Given the description of an element on the screen output the (x, y) to click on. 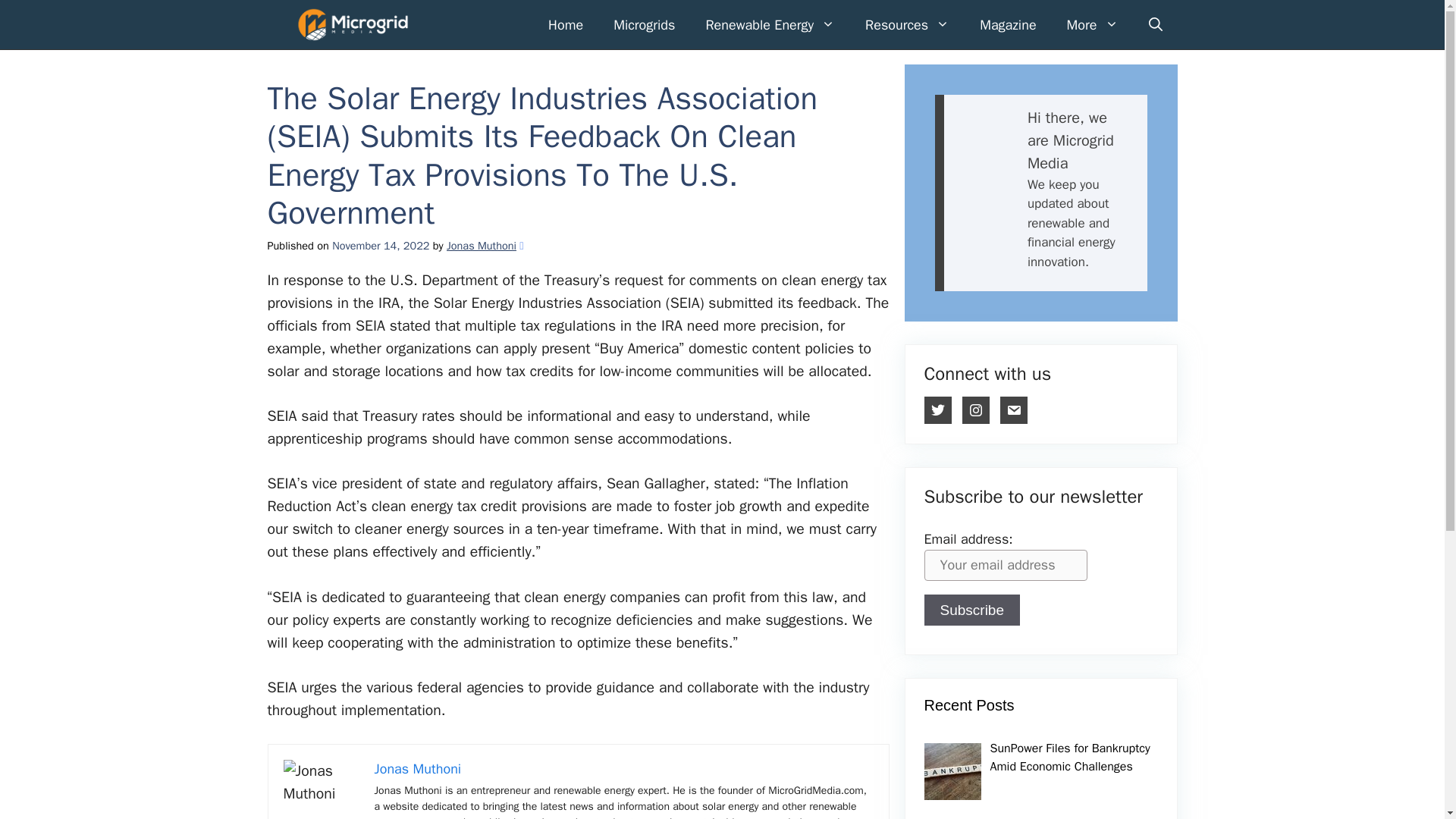
November 14, 2022 (381, 245)
Subscribe (971, 609)
Renewable Energy (770, 23)
Home (565, 23)
Jonas Muthoni (417, 768)
Microgrid Media (352, 24)
Subscribe (971, 609)
More (1092, 23)
SunPower Files for Bankruptcy Amid Economic Challenges (1070, 757)
7:58 am (381, 245)
